Given the description of an element on the screen output the (x, y) to click on. 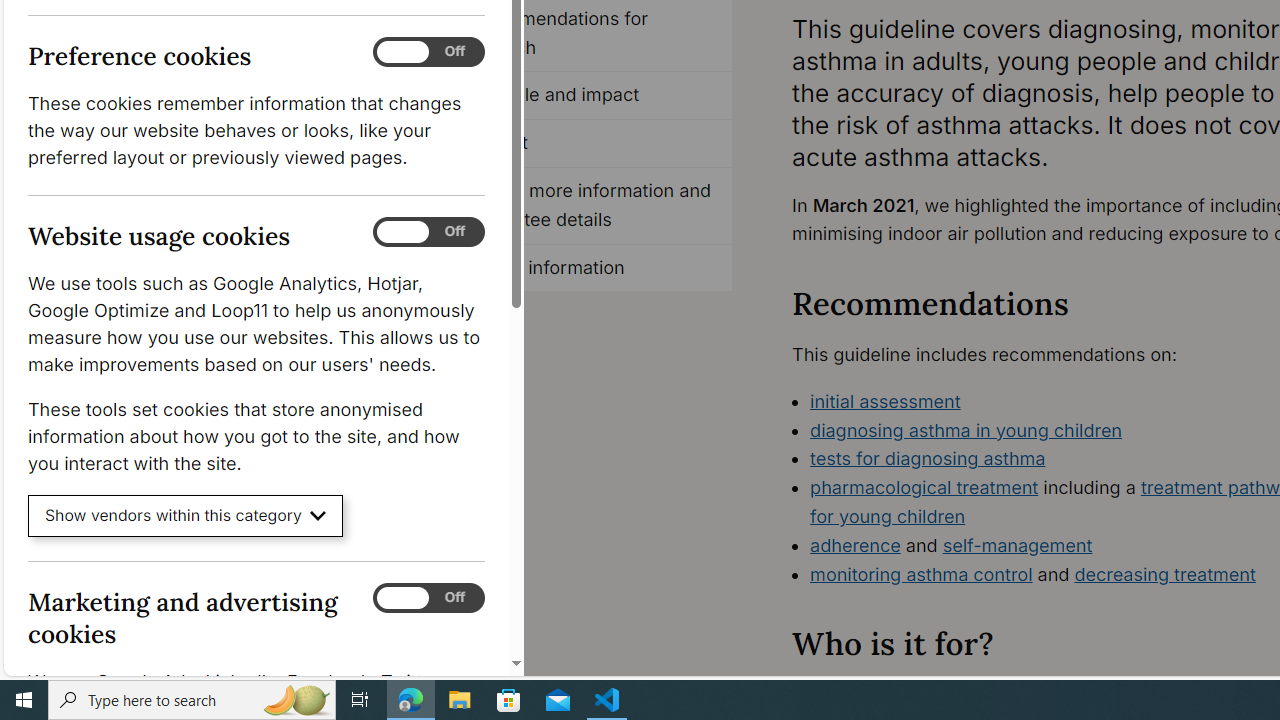
self-management (1017, 544)
Marketing and advertising cookies (429, 597)
Website usage cookies (429, 232)
initial assessment (885, 400)
tests for diagnosing asthma (927, 458)
Finding more information and committee details (588, 205)
